Given the description of an element on the screen output the (x, y) to click on. 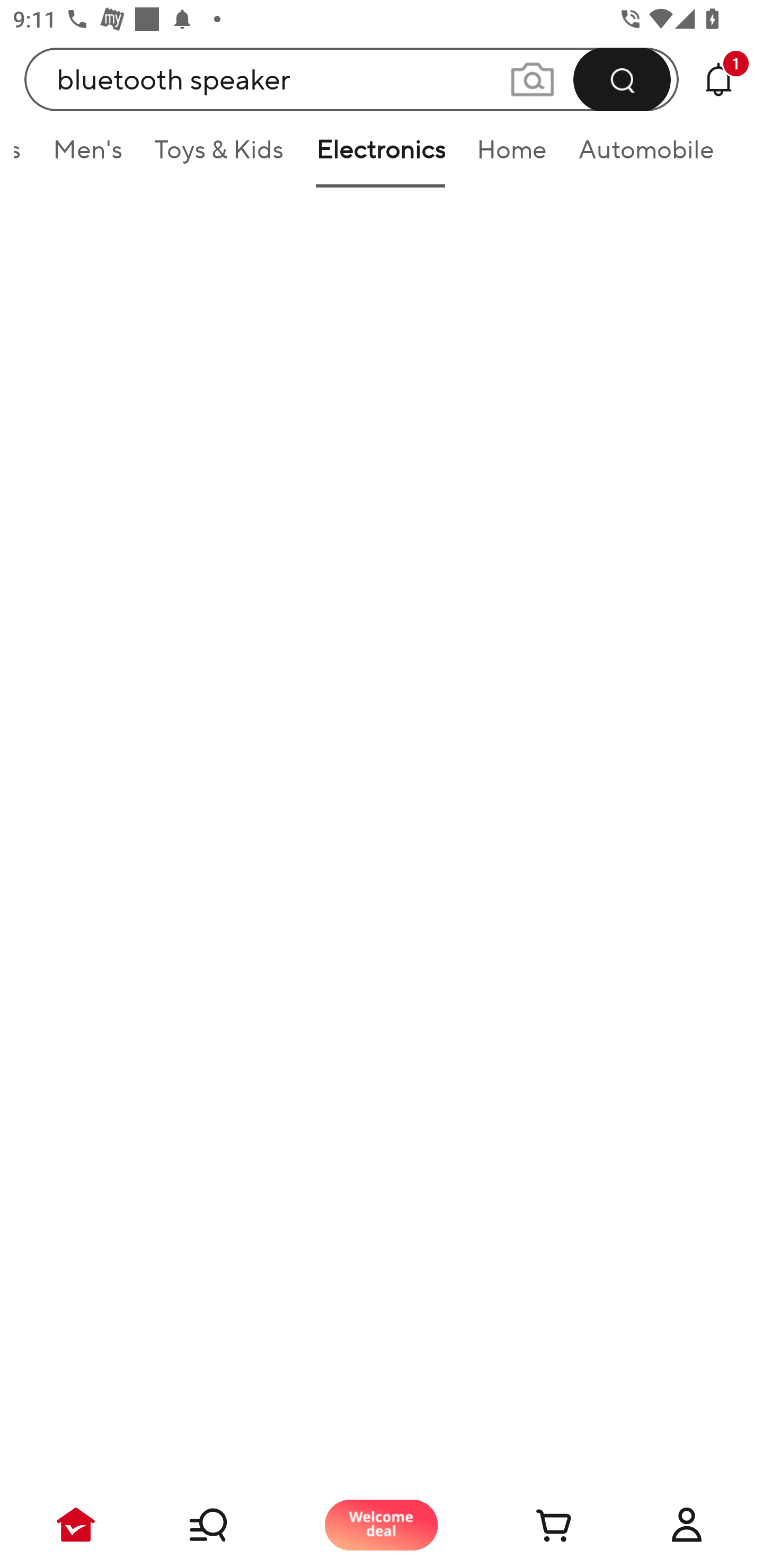
bluetooth speaker (351, 79)
Men's (87, 155)
Toys & Kids (218, 155)
Home (511, 155)
Automobile (646, 155)
Shop (228, 1524)
Cart (533, 1524)
Account (686, 1524)
